Given the description of an element on the screen output the (x, y) to click on. 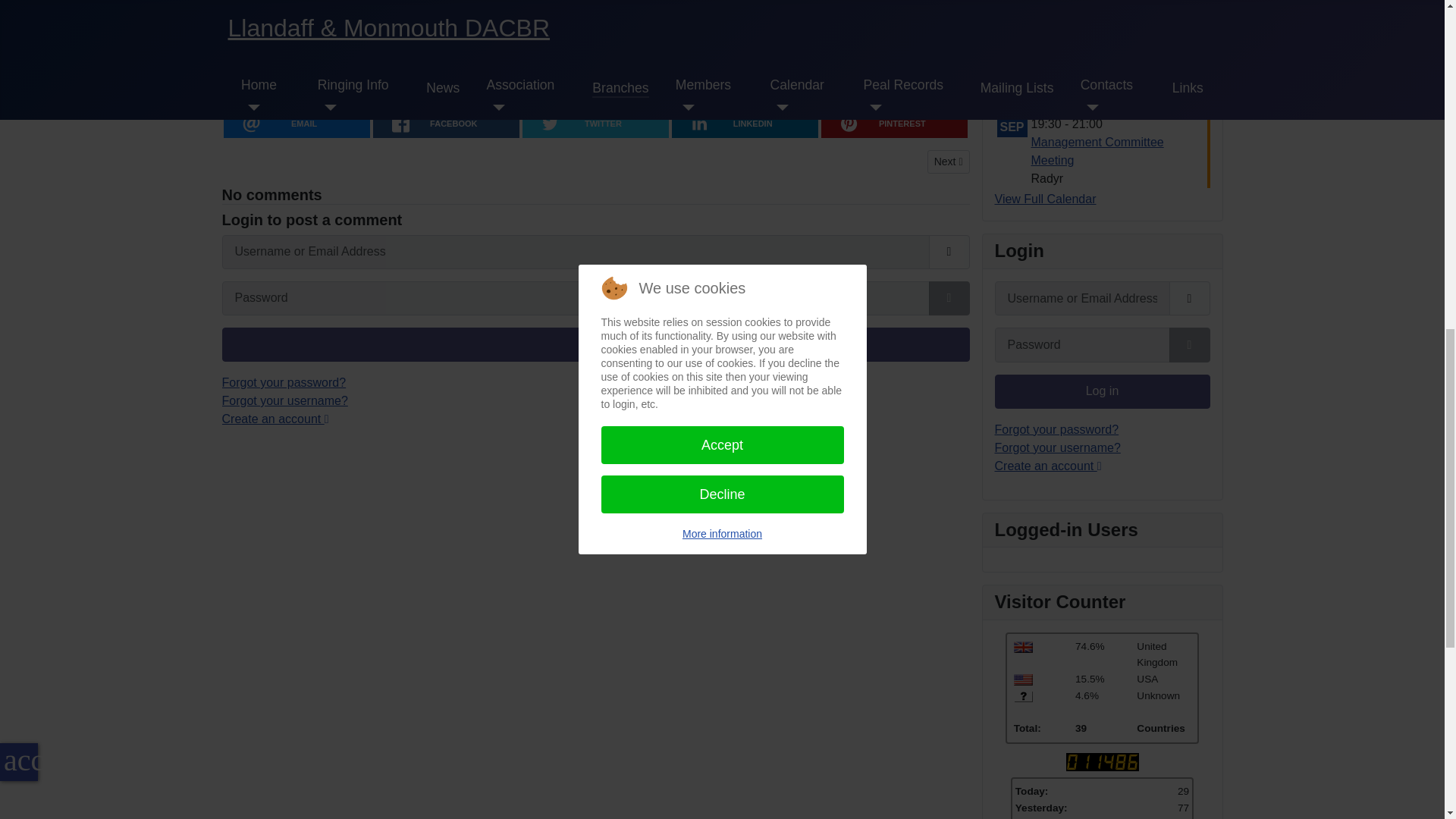
Username or Email Address (1189, 298)
1,768 (1022, 679)
Username or Email Address (948, 252)
526 (1022, 696)
8,527 (1022, 646)
